Given the description of an element on the screen output the (x, y) to click on. 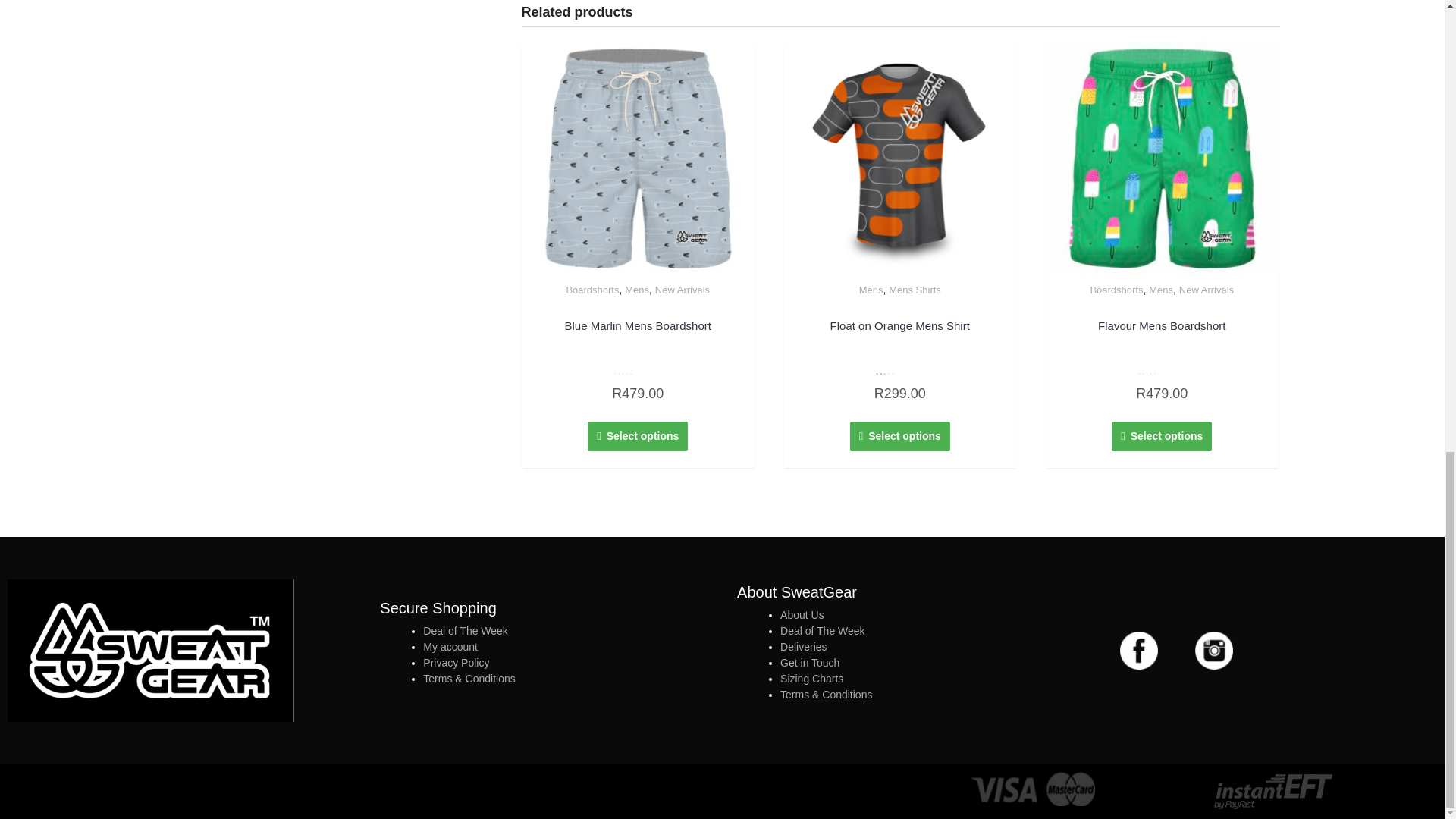
instagram-4-48 (1214, 650)
facebook-4-48 (1138, 650)
pngkeycom-visa-mastercard-logo-png-3033968 (1032, 788)
